Given the description of an element on the screen output the (x, y) to click on. 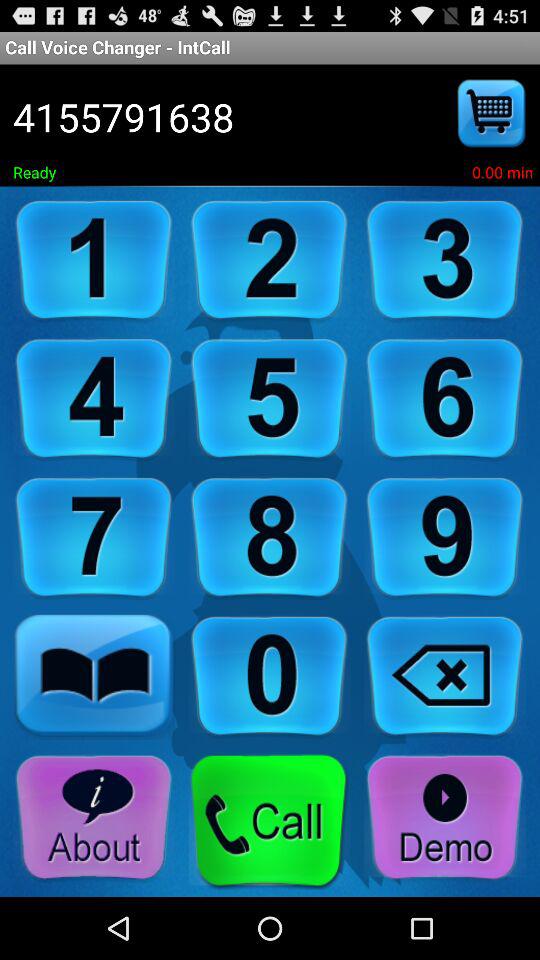
press to select the four number to dial (94, 399)
